Given the description of an element on the screen output the (x, y) to click on. 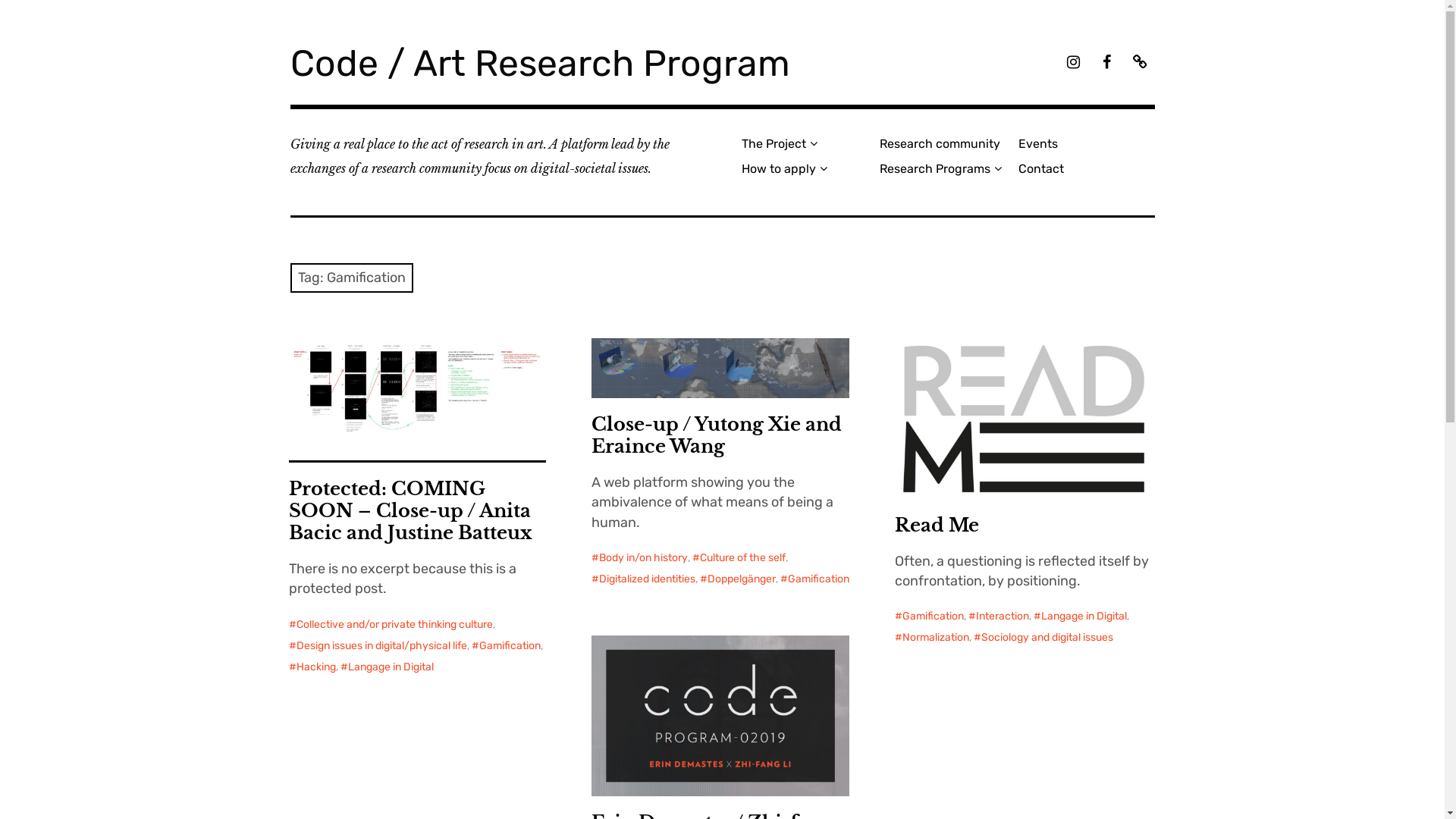
Gamification Element type: text (505, 645)
Code / Art Research Program Element type: text (539, 62)
Events Element type: text (1081, 143)
Langage in Digital Element type: text (1079, 616)
Hacking Element type: text (311, 666)
Contact Element type: text (1081, 168)
codedigitalart_fb Element type: text (1105, 63)
Read Me Element type: text (936, 525)
Langage in Digital Element type: text (386, 666)
Interaction Element type: text (998, 616)
Culture of the self Element type: text (738, 557)
codedigitalart_ello Element type: text (1138, 63)
codedigitalart_insta Element type: text (1072, 63)
The Project Element type: text (804, 143)
Research community Element type: text (942, 143)
Gamification Element type: text (814, 578)
Collective and/or private thinking culture Element type: text (390, 624)
Close-up / Yutong Xie and Eraince Wang Element type: text (716, 435)
Digitalized identities Element type: text (643, 578)
Normalization Element type: text (931, 637)
Body in/on history Element type: text (639, 557)
Research Programs Element type: text (942, 168)
Design issues in digital/physical life Element type: text (377, 645)
Sociology and digital issues Element type: text (1043, 637)
How to apply Element type: text (804, 168)
Gamification Element type: text (928, 616)
